Given the description of an element on the screen output the (x, y) to click on. 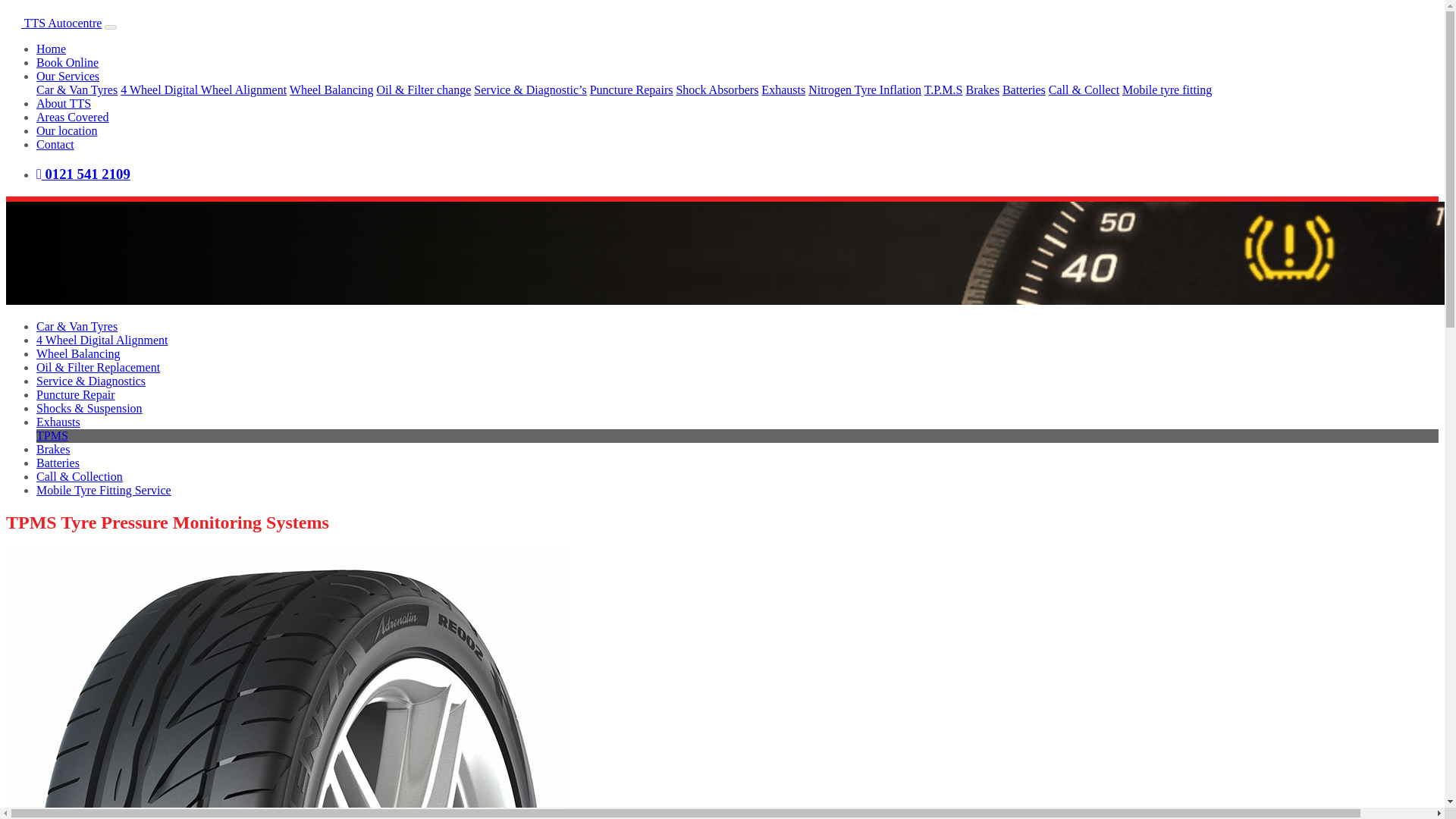
T.P.M.S (943, 89)
Book Online (67, 62)
Puncture Repairs (630, 89)
Batteries (1024, 89)
TTS Autocentre (53, 22)
Mobile tyre fitting (1166, 89)
Brakes (981, 89)
Nitrogen Tyre Inflation (864, 89)
Wheel Balancing (331, 89)
Areas Covered (72, 116)
Our Services (67, 75)
Mobile Tyre Fitting Service (103, 490)
Shock Absorbers (716, 89)
Brakes (52, 449)
4 Wheel Digital Wheel Alignment (203, 89)
